Given the description of an element on the screen output the (x, y) to click on. 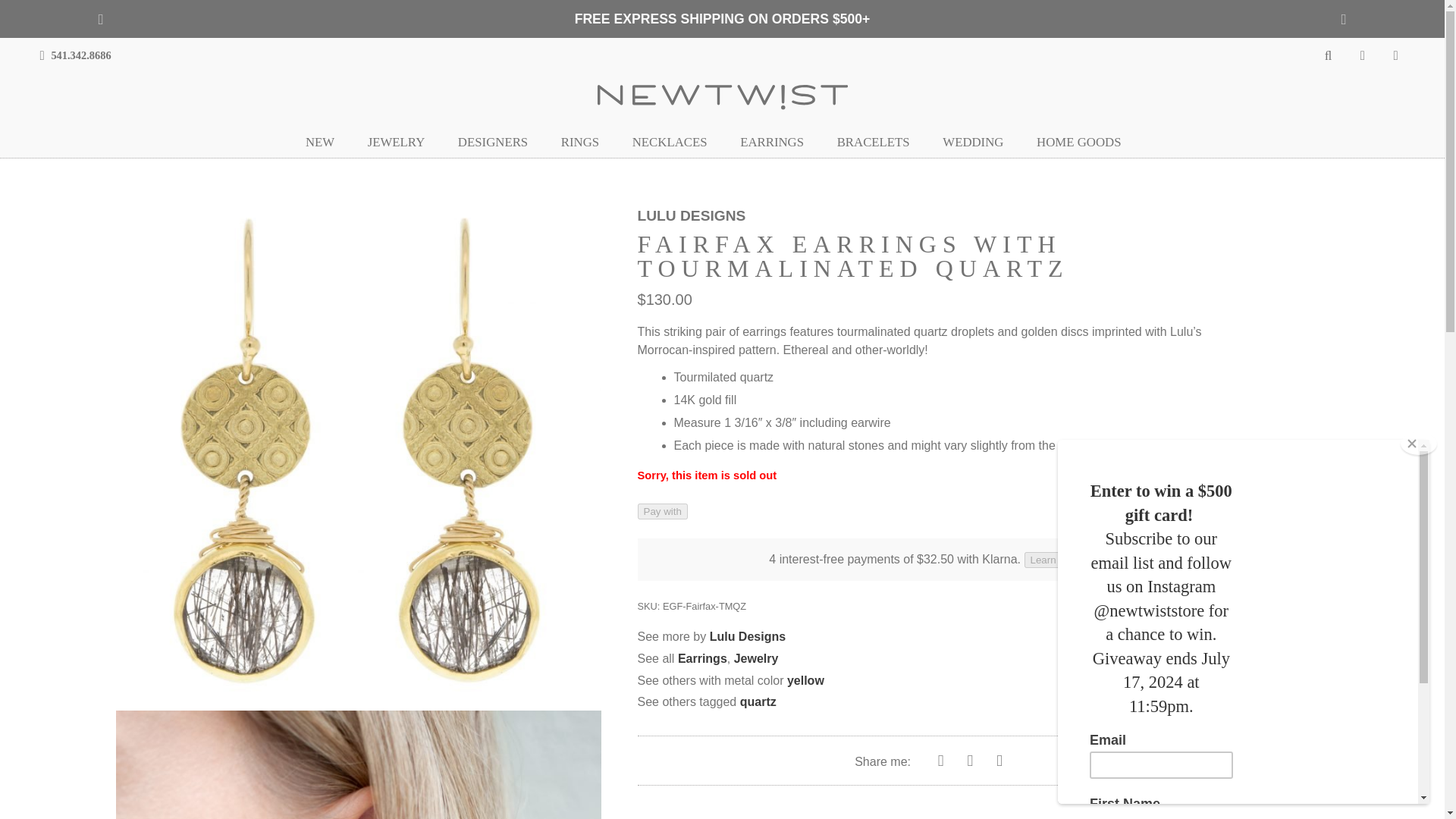
EGF-FAIRFAX-TMQZ-2 (357, 764)
NEW (328, 142)
541.342.8686 (75, 54)
DESIGNERS (501, 142)
JEWELRY (404, 142)
